Given the description of an element on the screen output the (x, y) to click on. 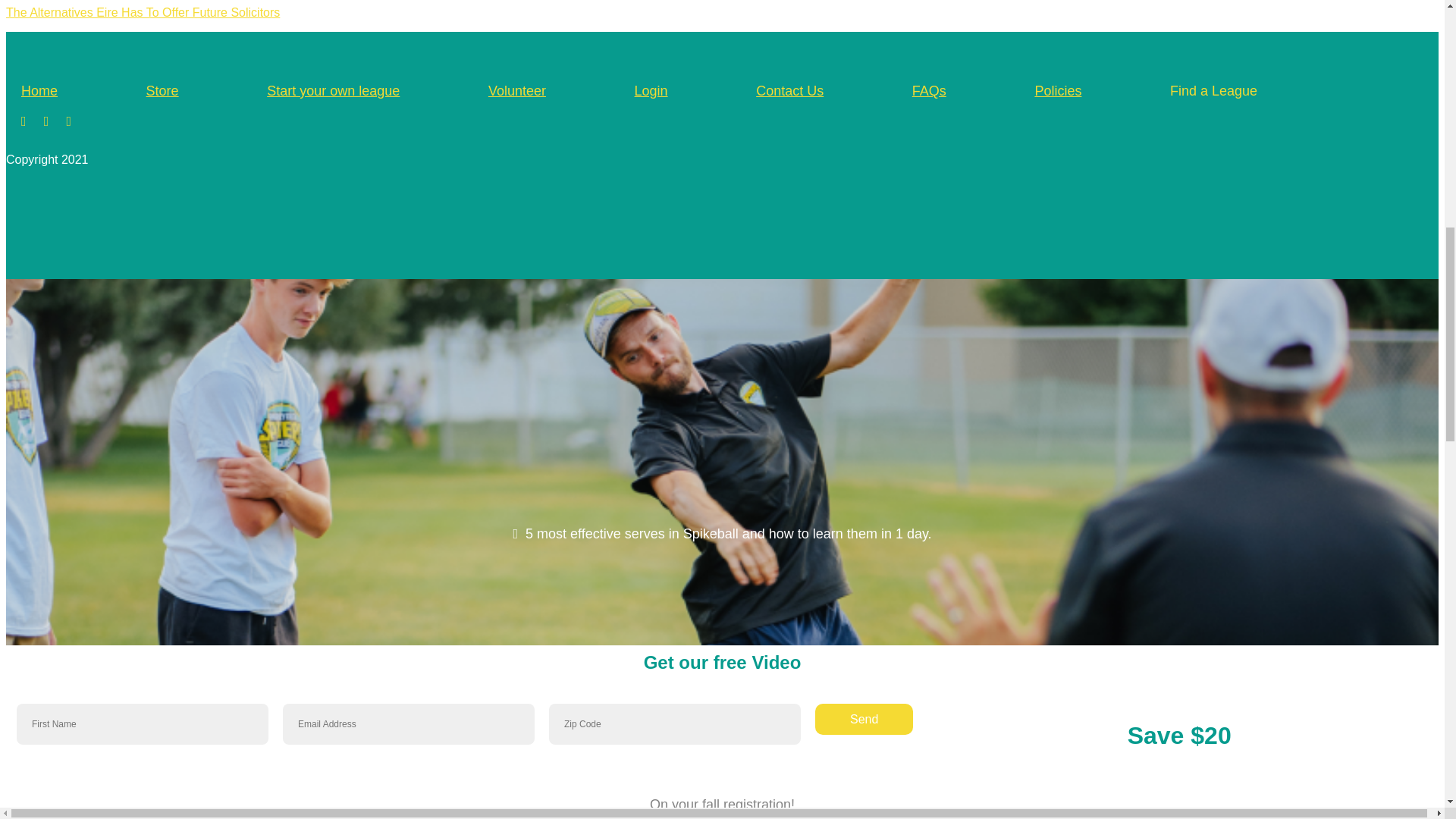
Store (163, 90)
Send (863, 718)
Home (39, 90)
Start your own league (332, 90)
Contact Us (789, 90)
Find a League (1213, 90)
Policies (1057, 90)
Send (863, 718)
Login (651, 90)
FAQs (929, 90)
Volunteer (516, 90)
